Given the description of an element on the screen output the (x, y) to click on. 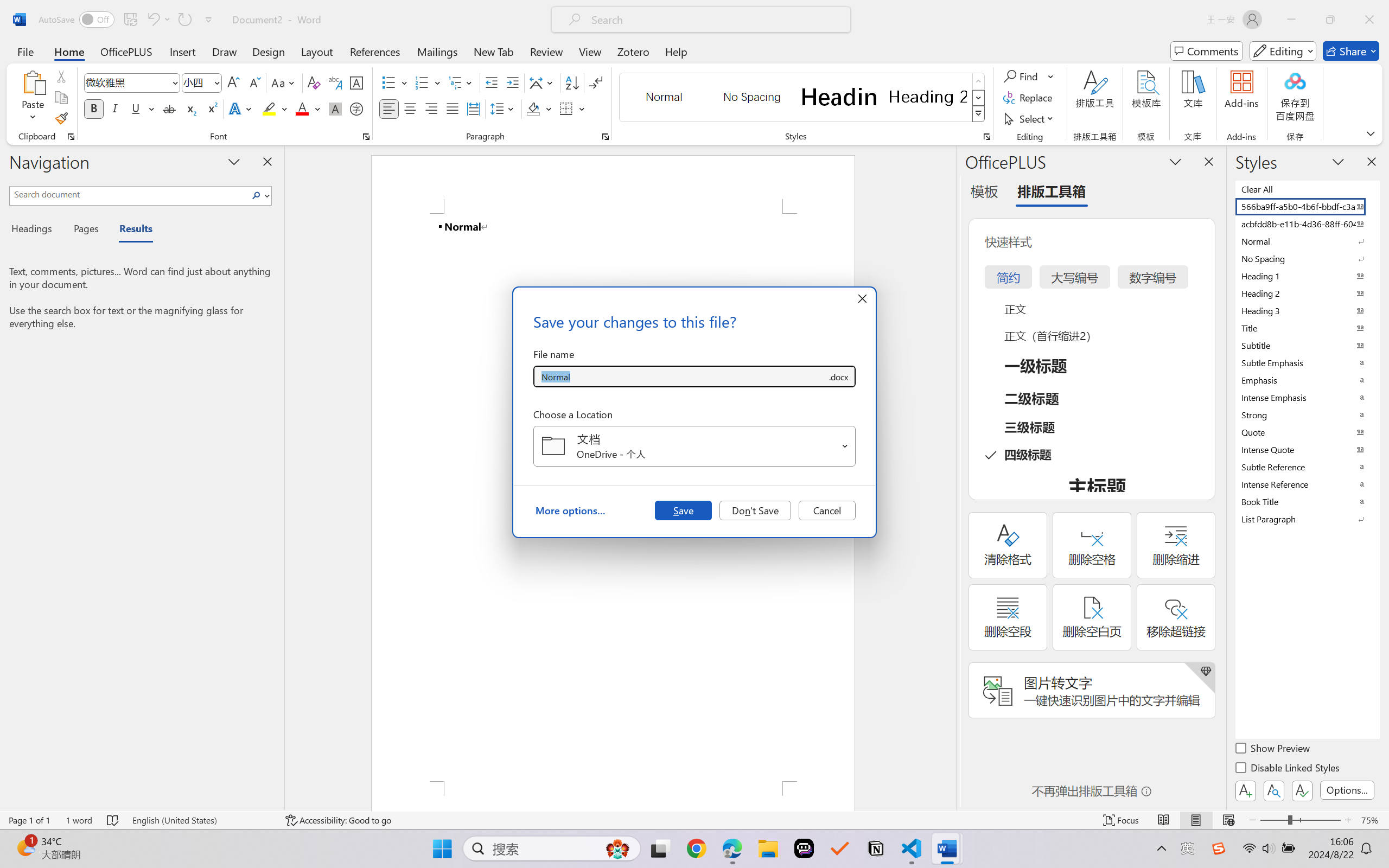
Center (409, 108)
Mailings (437, 51)
View (589, 51)
Asian Layout (542, 82)
Subscript (190, 108)
Font Size (196, 82)
Emphasis (1306, 379)
Review (546, 51)
Options... (1346, 789)
Strikethrough (169, 108)
Google Chrome (696, 848)
Word Count 1 word (78, 819)
Headings (35, 229)
